Given the description of an element on the screen output the (x, y) to click on. 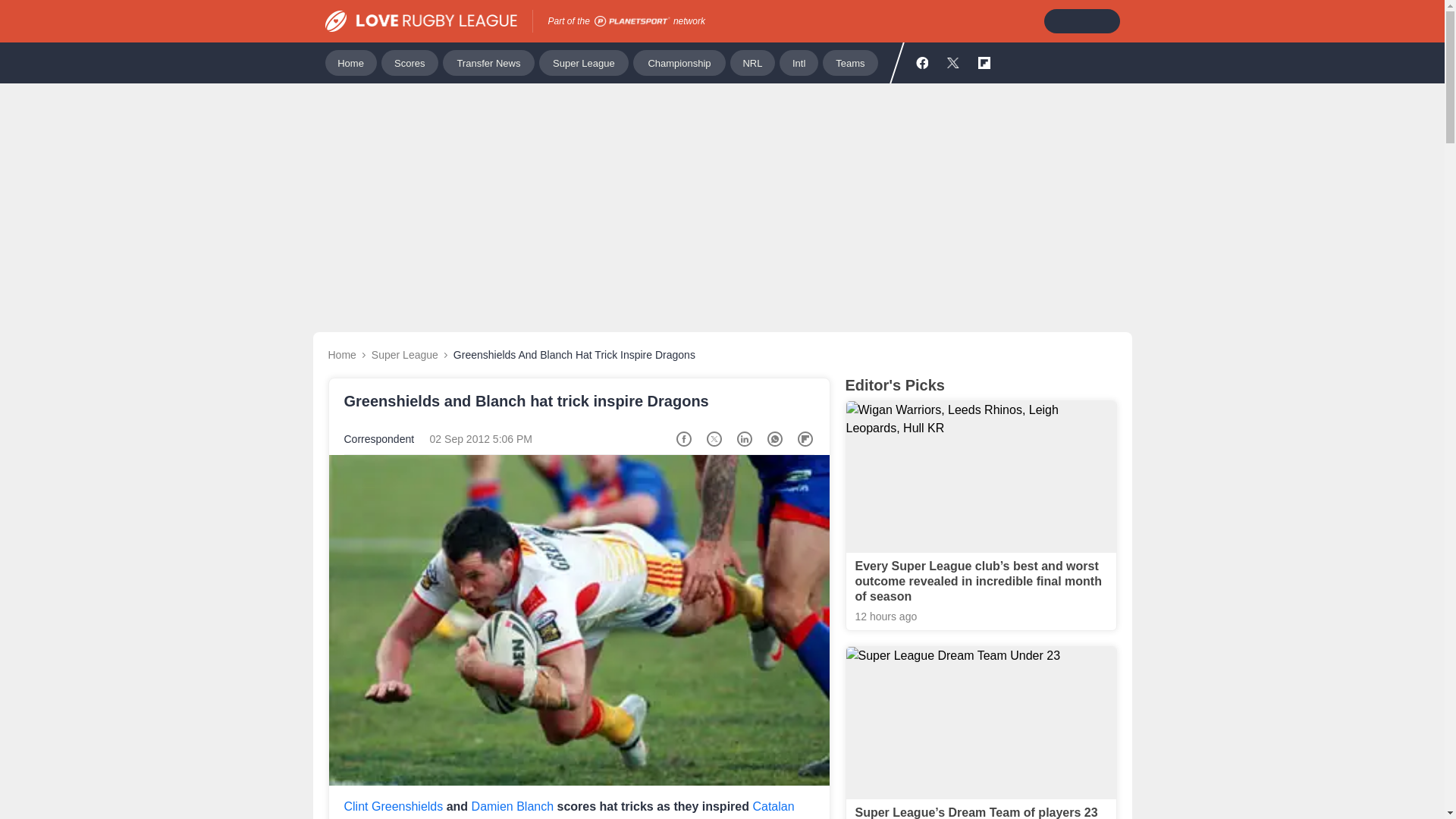
Correspondent (378, 439)
Home (349, 62)
Super League (404, 354)
Super League (583, 62)
Transfer News (488, 62)
NRL (752, 62)
Home (341, 354)
Teams (849, 62)
Scores (409, 62)
Clint Greenshields (393, 806)
